Given the description of an element on the screen output the (x, y) to click on. 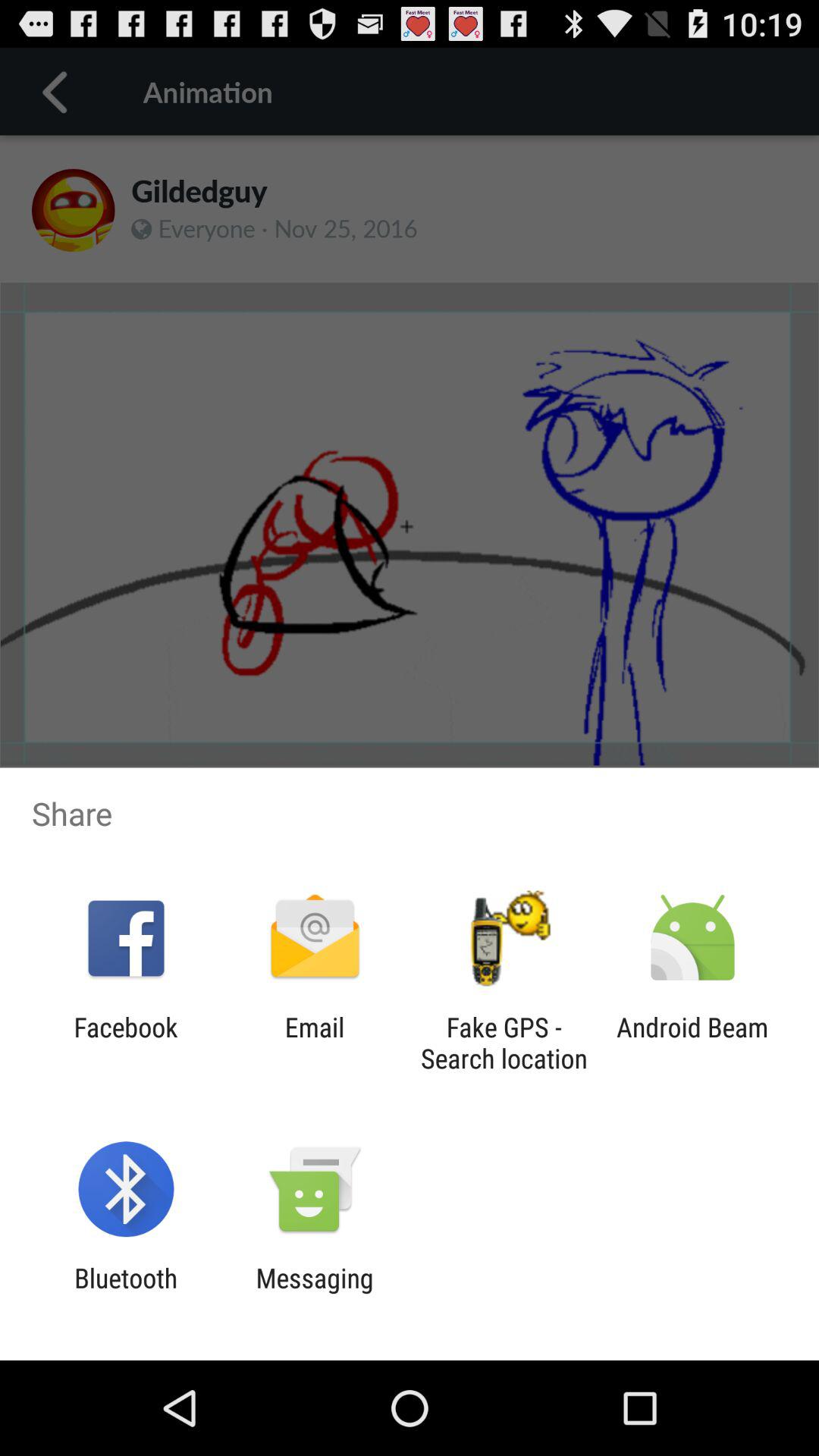
select icon to the left of the email (125, 1042)
